Given the description of an element on the screen output the (x, y) to click on. 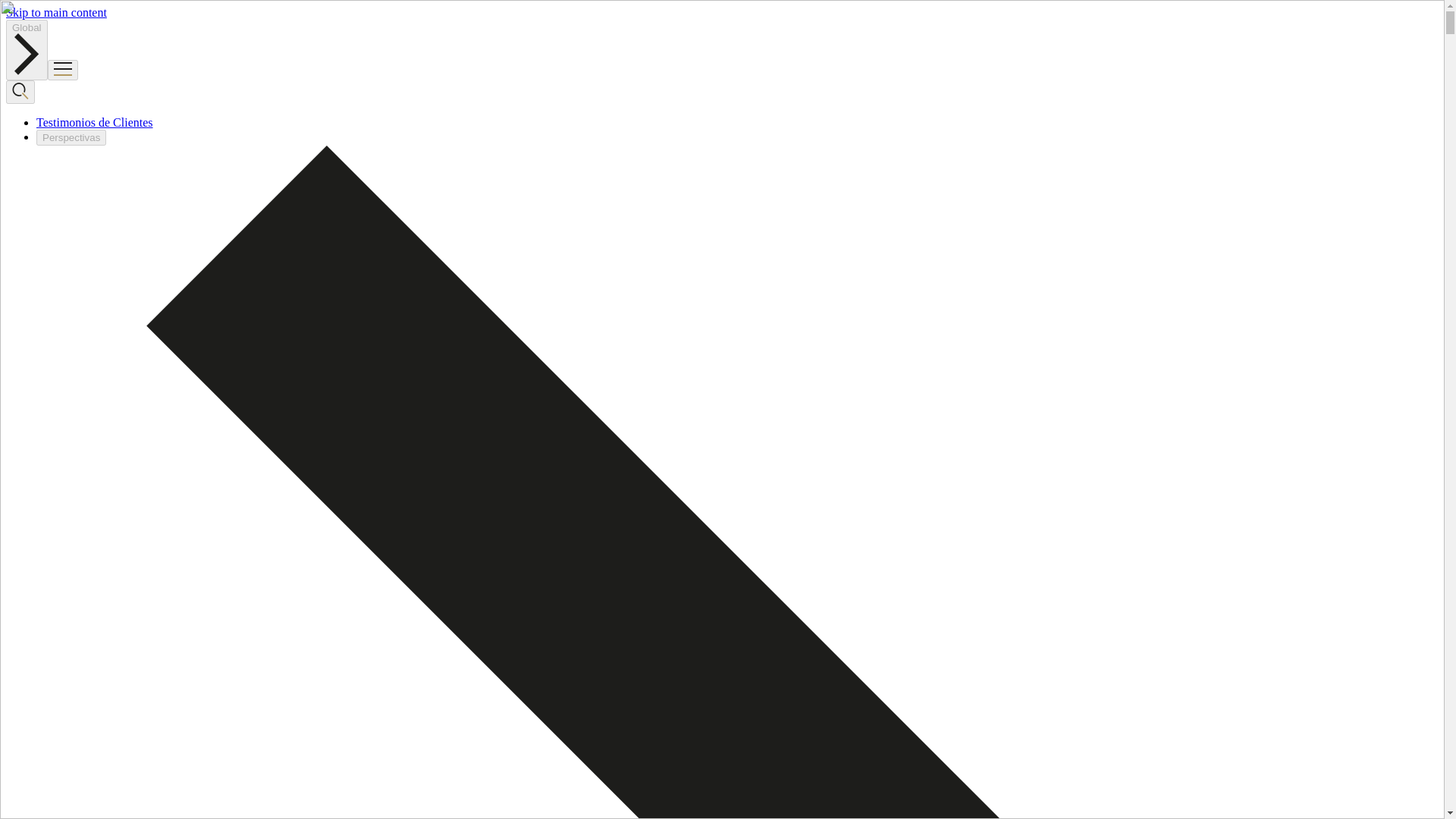
Skip to main content (55, 11)
Perspectivas (71, 137)
Testimonios de Clientes (94, 122)
